Given the description of an element on the screen output the (x, y) to click on. 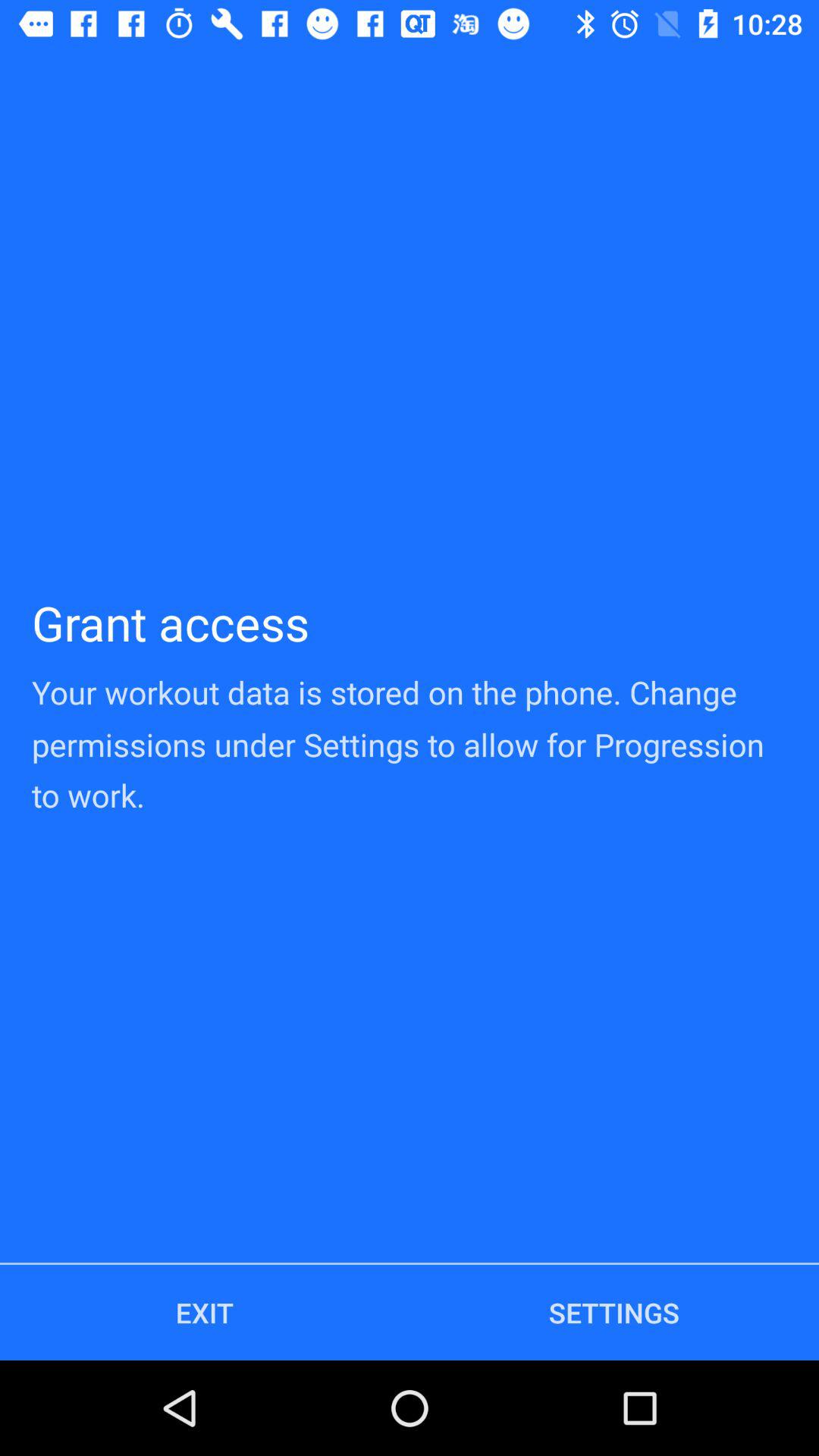
turn off item next to settings item (204, 1312)
